Given the description of an element on the screen output the (x, y) to click on. 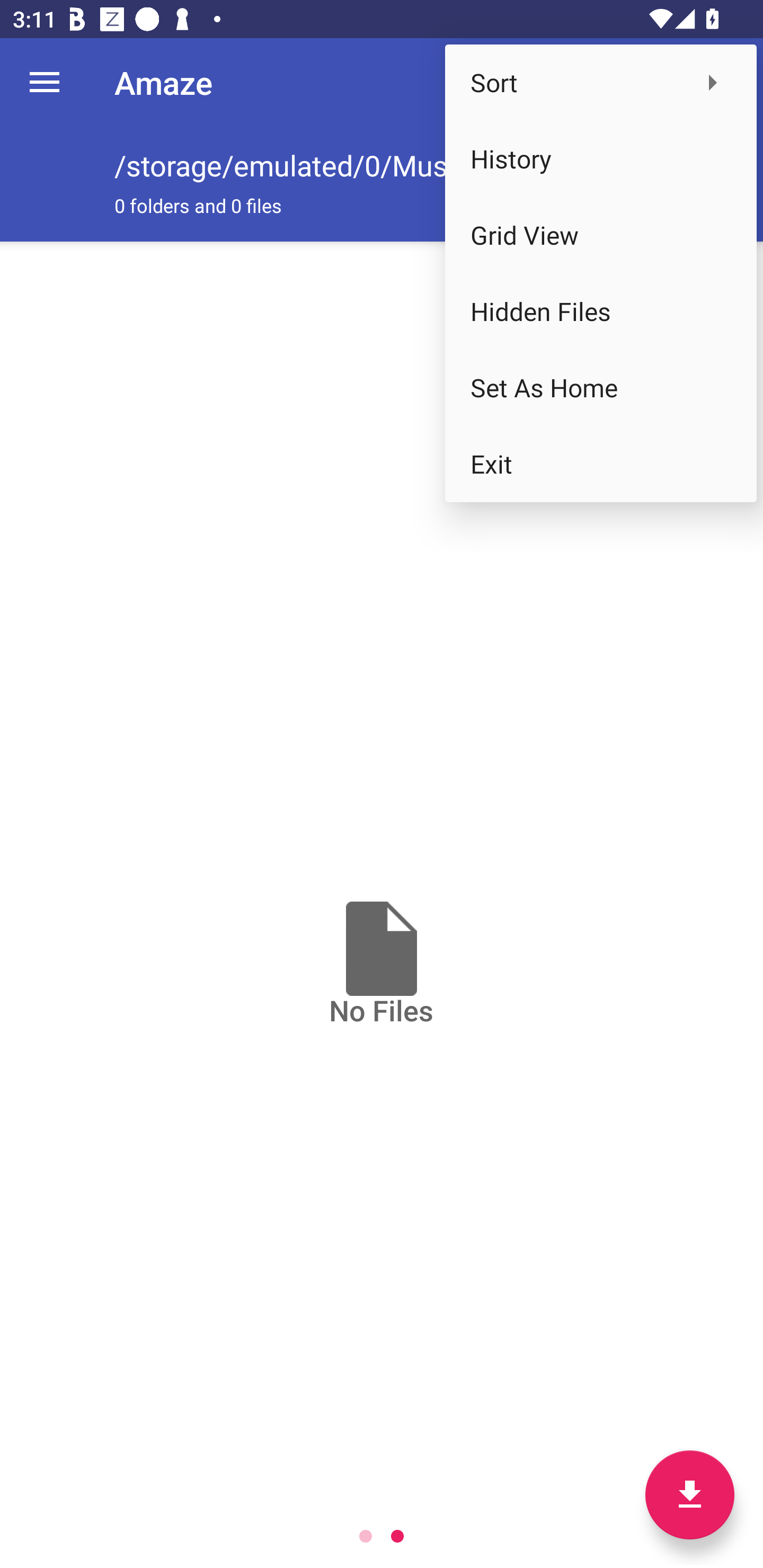
Sort (600, 81)
History (600, 158)
Grid View (600, 234)
Hidden Files (600, 310)
Set As Home (600, 387)
Exit (600, 463)
